Given the description of an element on the screen output the (x, y) to click on. 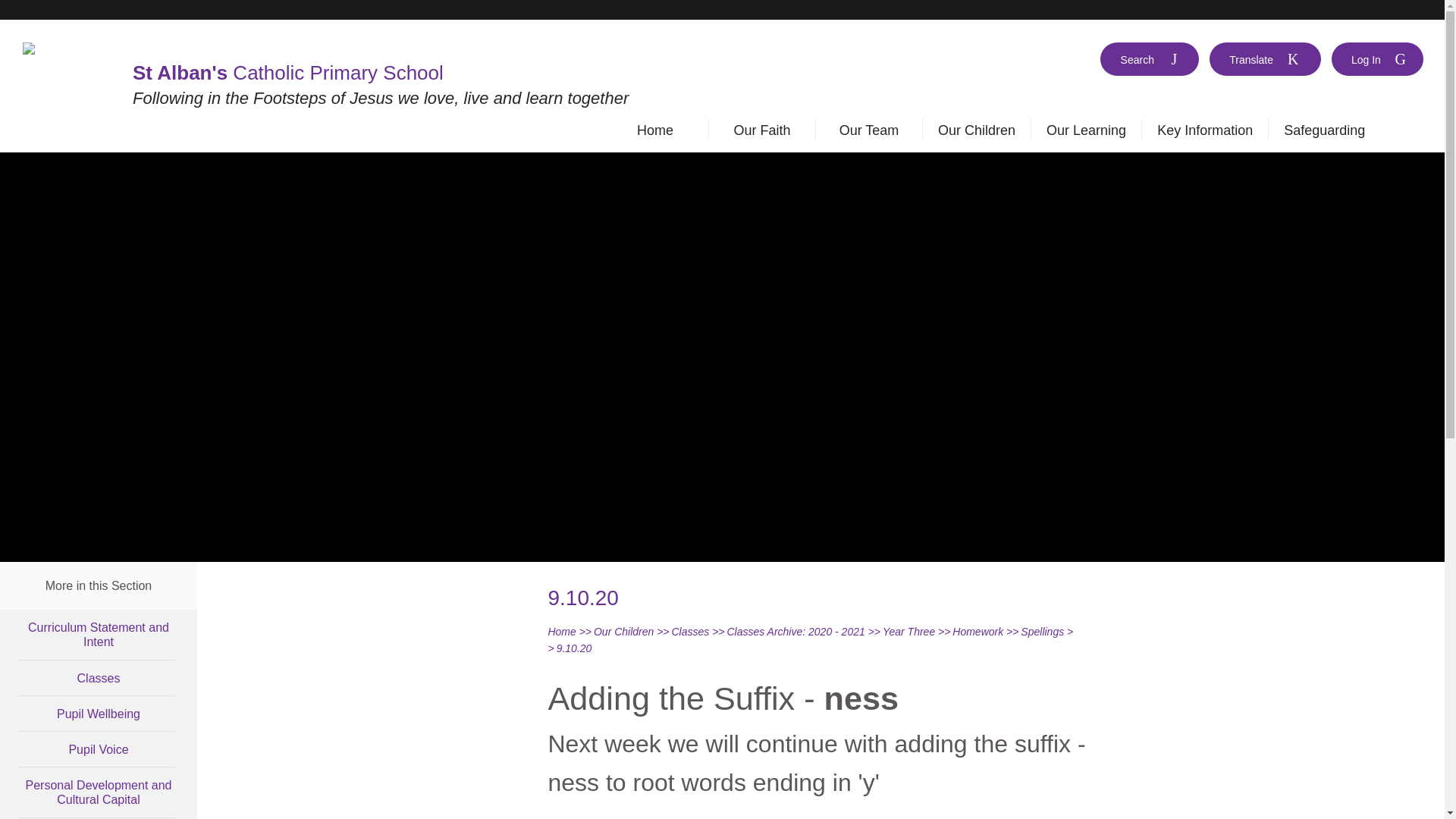
Our Faith (761, 133)
Home (655, 133)
Home Page (64, 48)
